Given the description of an element on the screen output the (x, y) to click on. 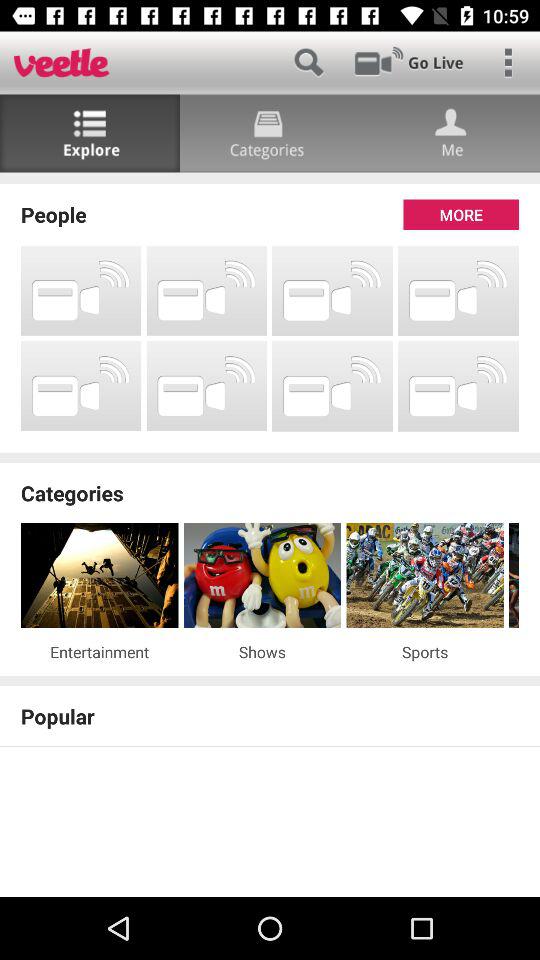
turn off the item to the right of the shows (424, 651)
